Given the description of an element on the screen output the (x, y) to click on. 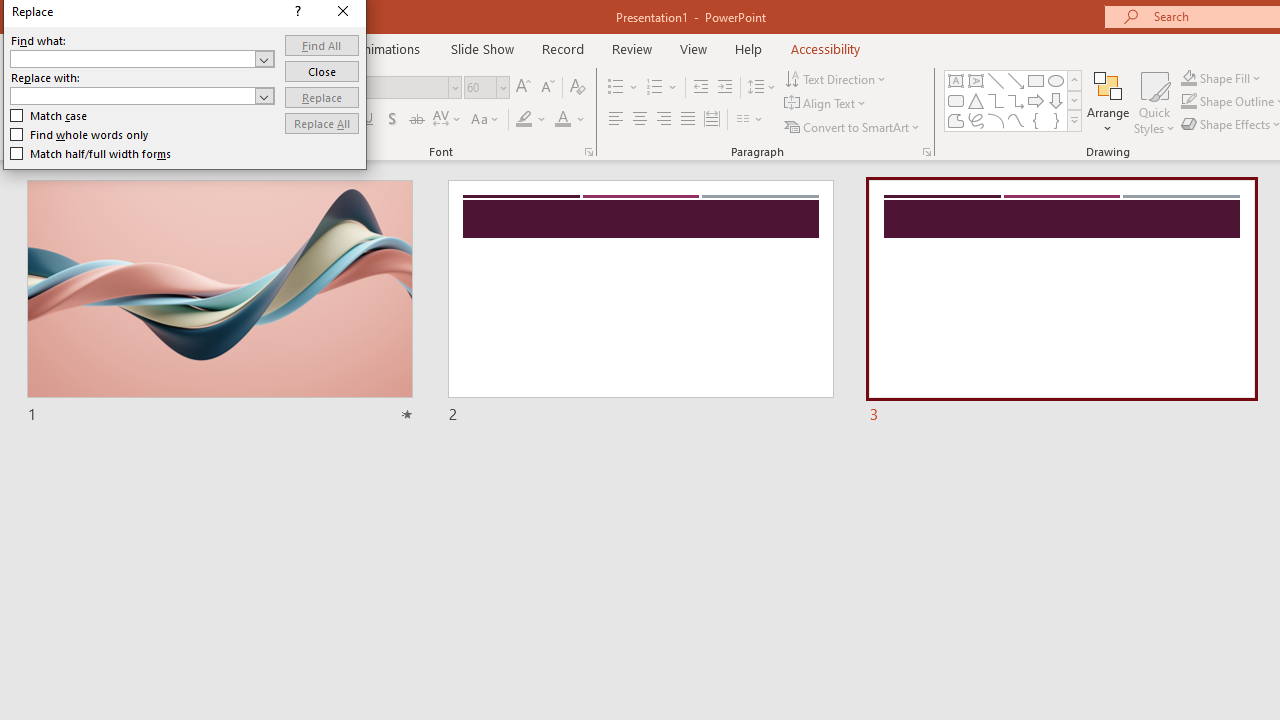
Vertical Text Box (975, 80)
Replace with (132, 95)
Center (639, 119)
Arrange (1108, 102)
Match half/full width forms (91, 154)
Rectangle (1035, 80)
Clear Formatting (577, 87)
Line Arrow (1016, 80)
Left Brace (1035, 120)
Shape Fill (1221, 78)
Curve (1016, 120)
Decrease Font Size (547, 87)
Align Left (616, 119)
